Given the description of an element on the screen output the (x, y) to click on. 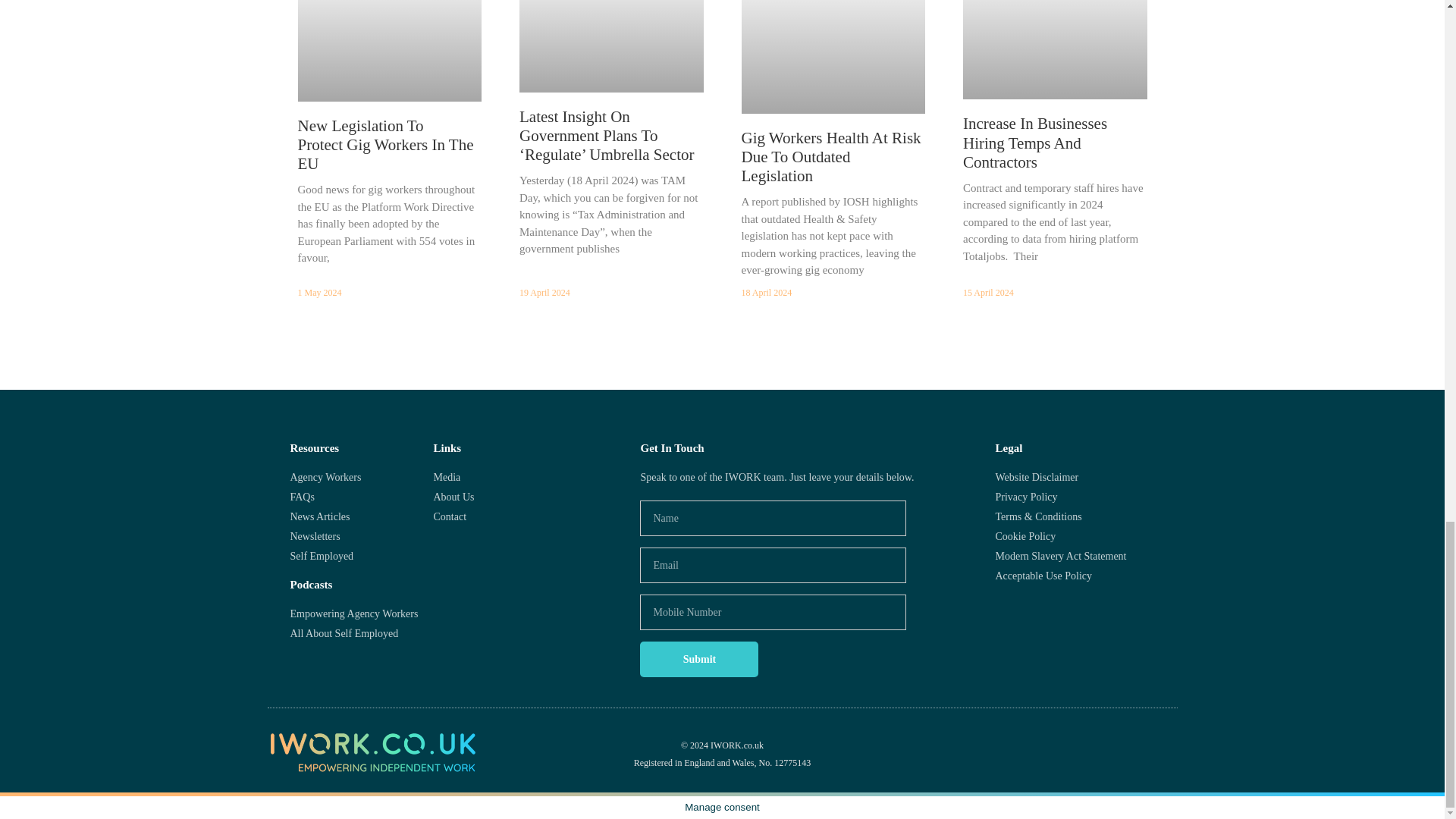
Increase In Businesses Hiring Temps And Contractors (1034, 142)
FAQs (360, 496)
Gig Workers Health At Risk Due To Outdated Legislation (831, 156)
Agency Workers (360, 477)
New Legislation To Protect Gig Workers In The EU (385, 144)
News Articles (360, 516)
